Given the description of an element on the screen output the (x, y) to click on. 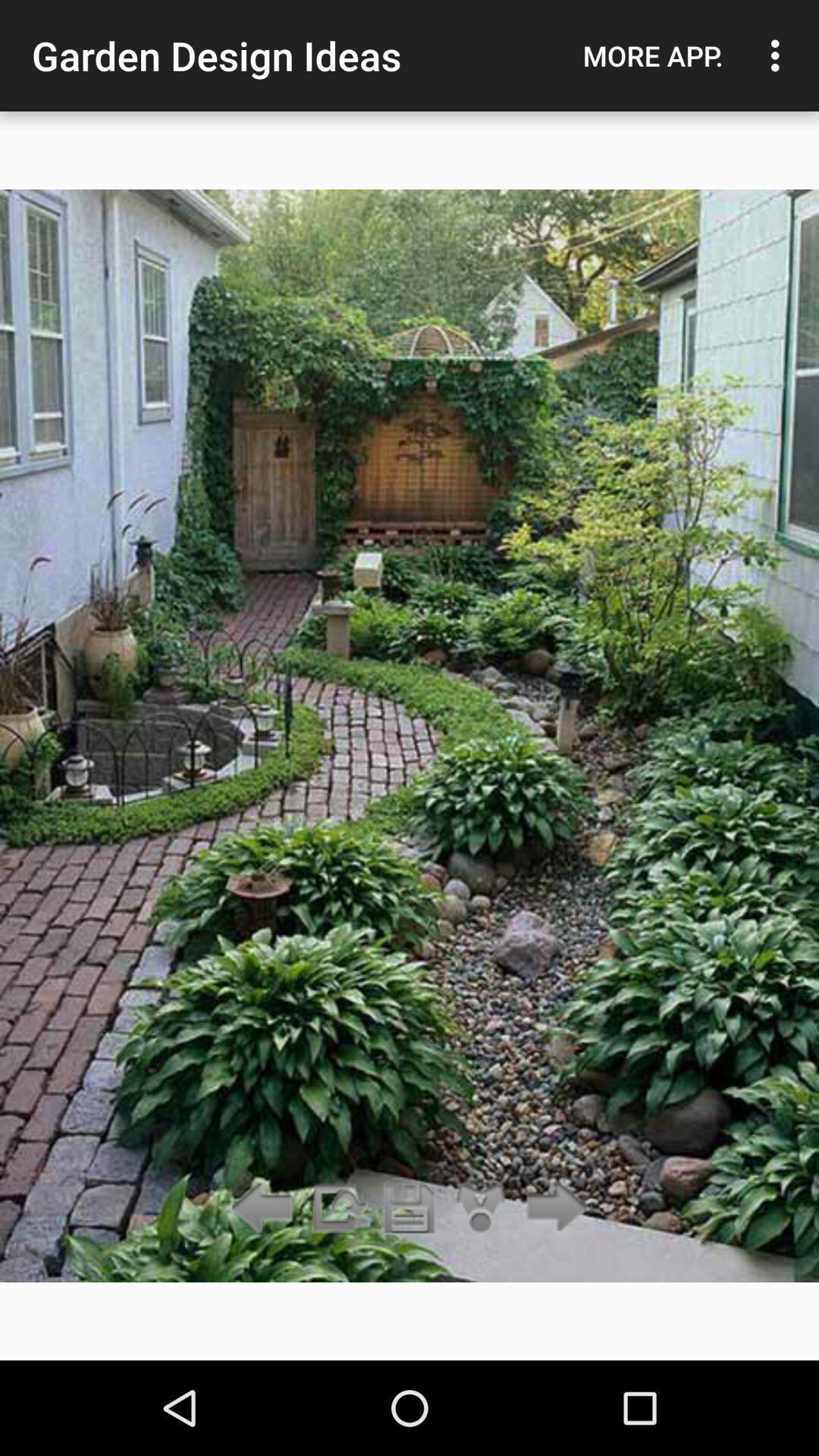
tap item to the right of more app. (779, 55)
